Given the description of an element on the screen output the (x, y) to click on. 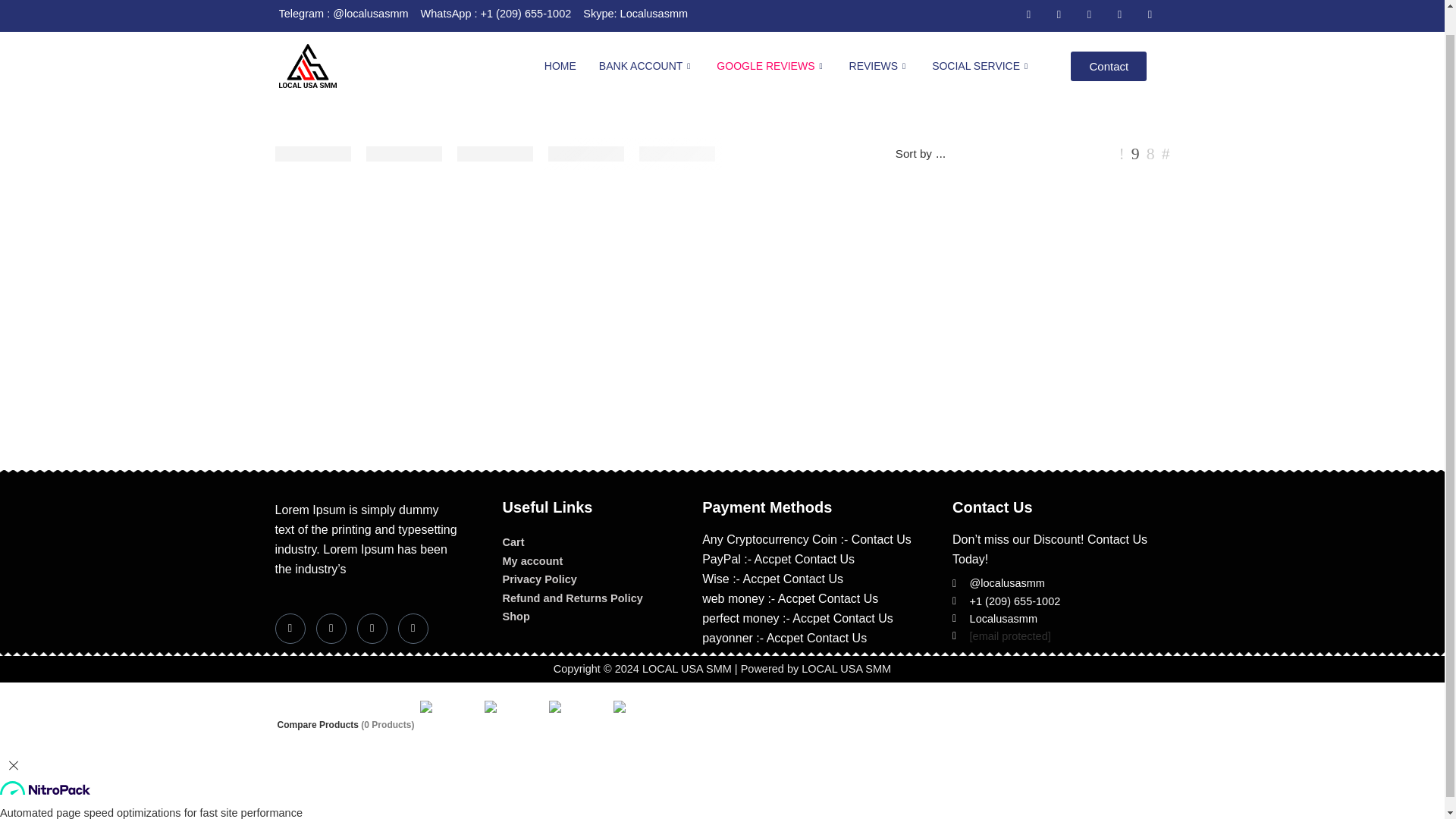
HOME (560, 65)
Contact (1108, 66)
SOCIAL SERVICE (981, 65)
BANK ACCOUNT (647, 65)
REVIEWS (879, 65)
GOOGLE REVIEWS (770, 65)
